Given the description of an element on the screen output the (x, y) to click on. 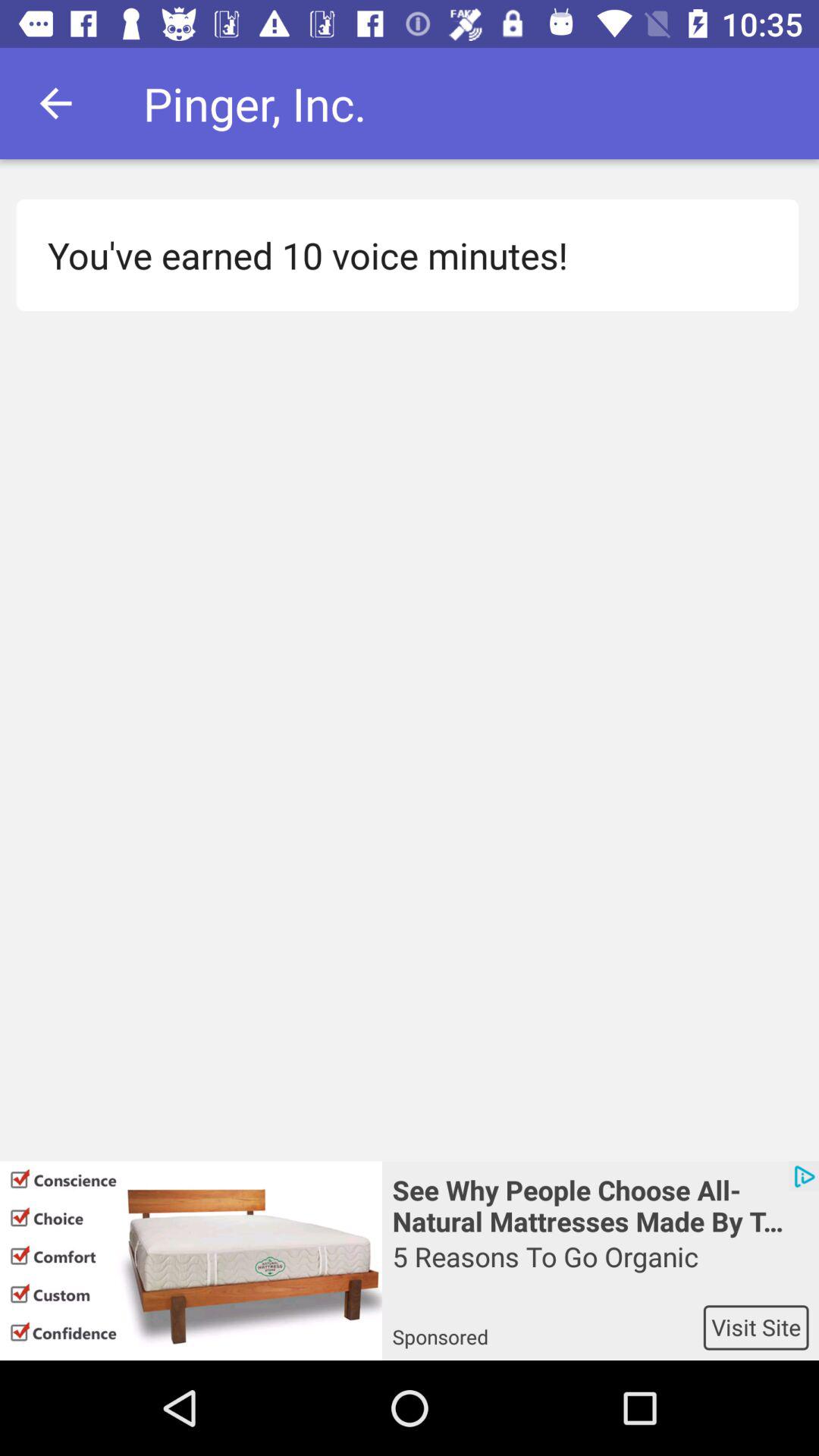
press app to the left of visit site item (547, 1327)
